Given the description of an element on the screen output the (x, y) to click on. 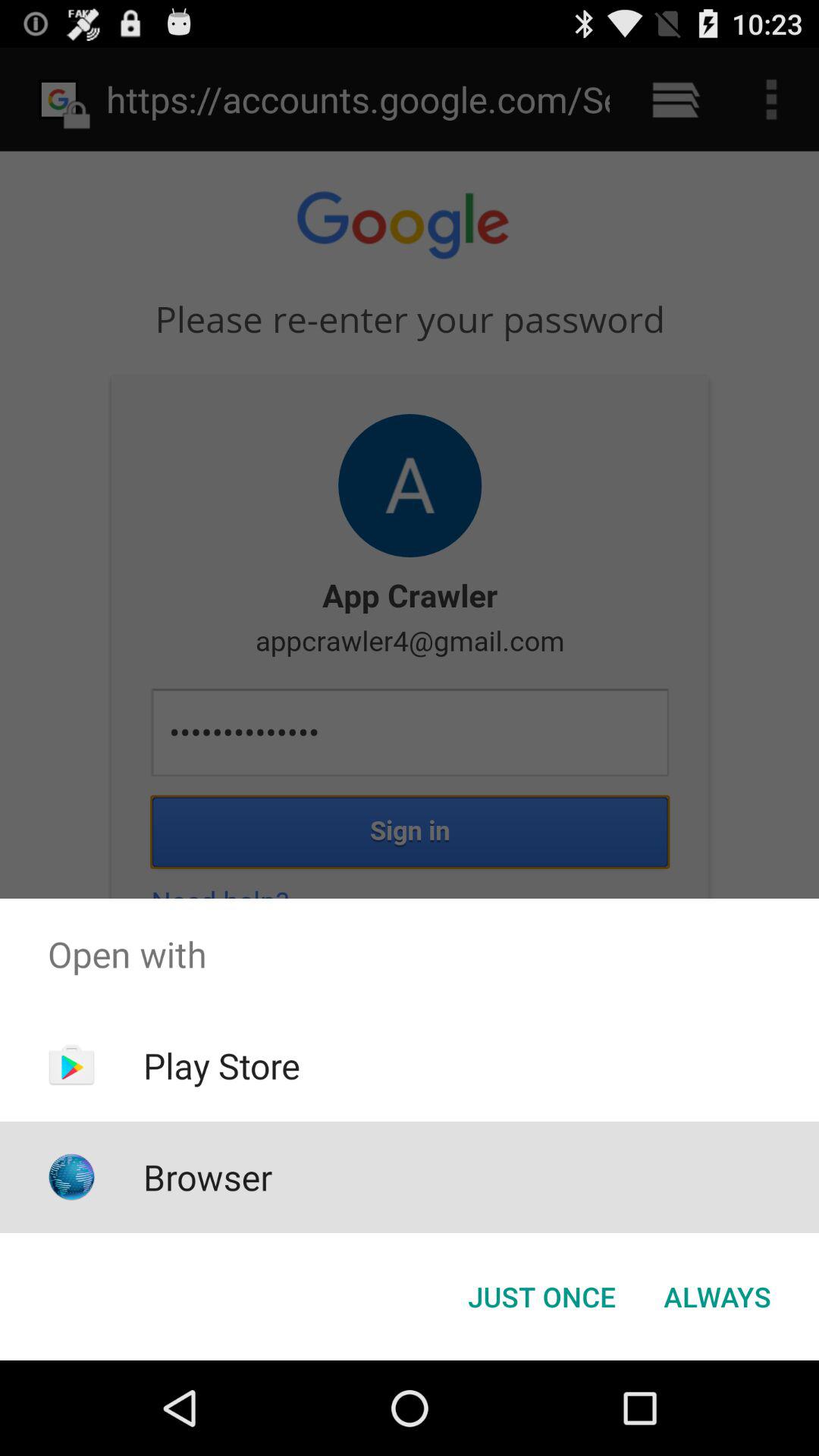
flip to always item (717, 1296)
